Given the description of an element on the screen output the (x, y) to click on. 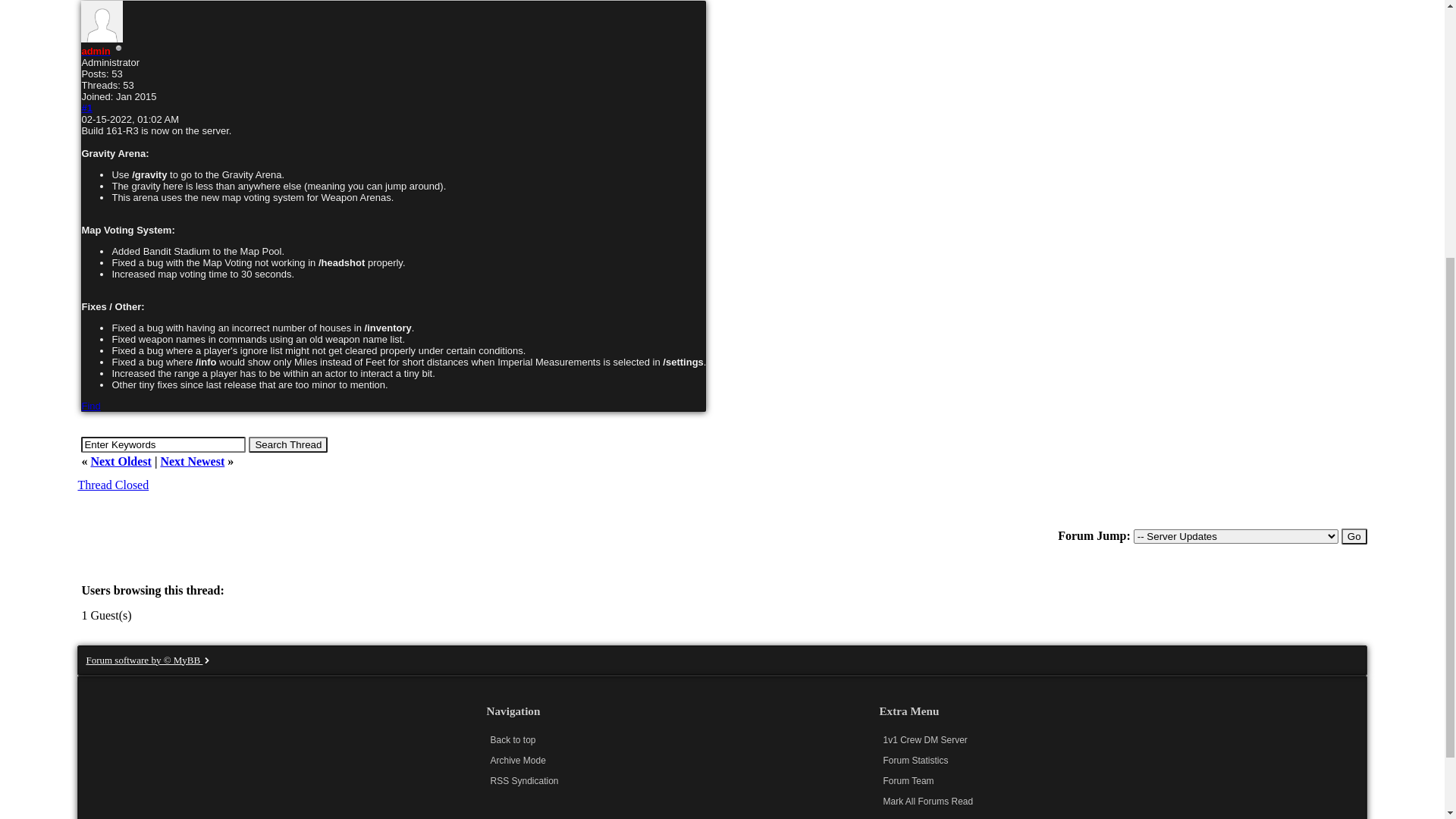
Members Element type: text (259, 23)
3 Element type: text (110, 292)
News / Information Element type: text (262, 89)
5 Element type: text (110, 326)
admin Element type: text (95, 455)
Home Element type: text (109, 23)
Server Updates Element type: text (361, 89)
4 Element type: text (110, 309)
Player Stats Element type: text (350, 23)
Discord Element type: text (179, 23)
#1 Element type: text (86, 511)
Find Element type: text (90, 809)
Offline Element type: hover (118, 452)
2 Element type: text (110, 275)
1 Element type: text (110, 258)
1v1 Crew DM Server Element type: text (147, 89)
Maps Element type: text (428, 23)
Login to account Element type: text (611, 68)
Thread Closed Element type: text (112, 122)
More Element type: text (485, 23)
